Given the description of an element on the screen output the (x, y) to click on. 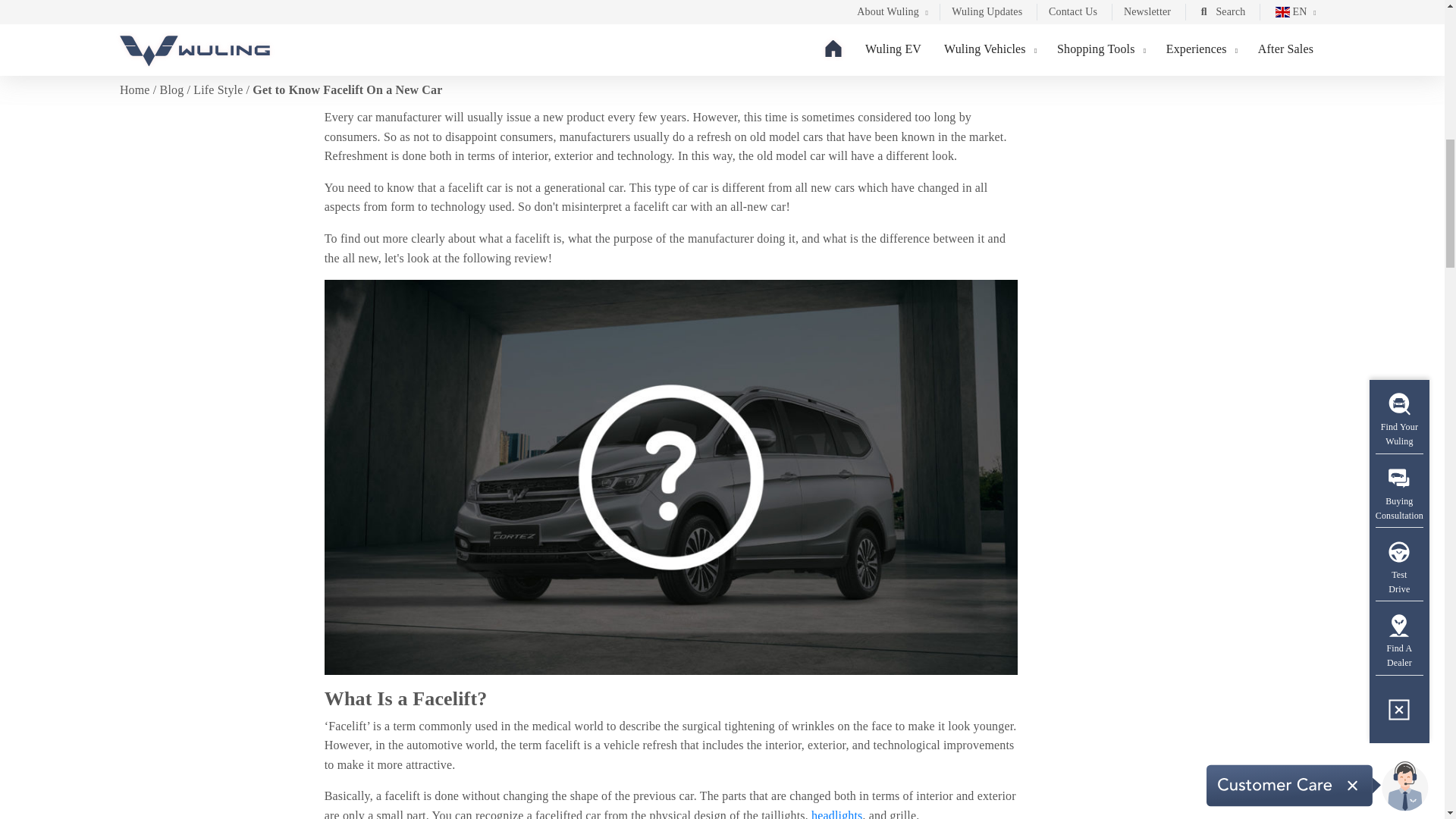
Get to Know Facelift On a New Car (670, 16)
